Given the description of an element on the screen output the (x, y) to click on. 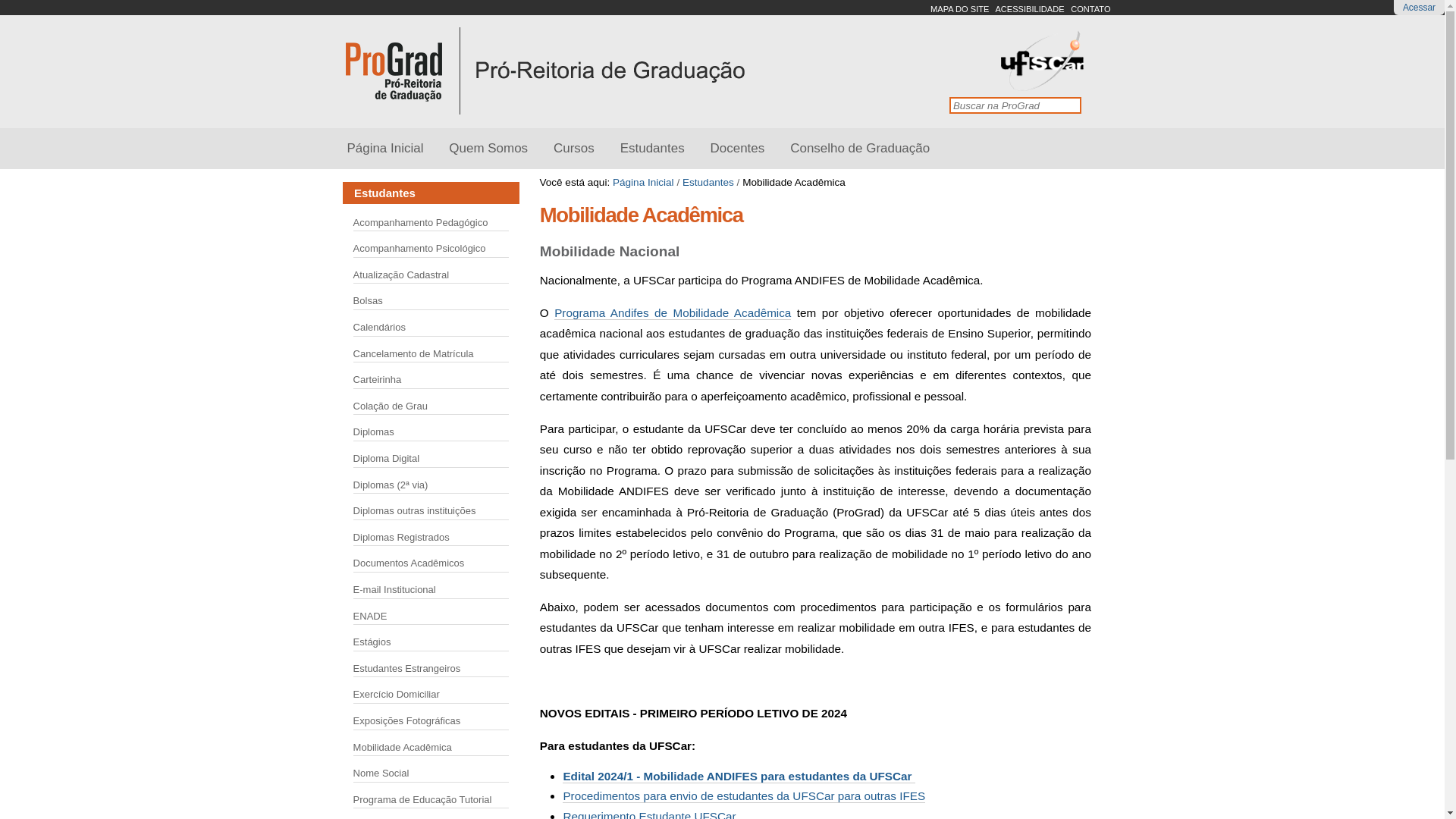
MAPA DO SITE Element type: text (959, 8)
Cursos Element type: text (573, 148)
Estudantes Element type: text (708, 182)
Diploma Digital Element type: text (386, 458)
Estudantes Element type: text (652, 148)
Buscar na ProGrad Element type: hover (1014, 105)
Nome Social Element type: text (381, 772)
Bolsas Element type: text (367, 300)
Docentes Element type: text (737, 148)
Estudantes Estrangeiros Element type: text (407, 668)
ACESSIBILIDADE Element type: text (1028, 8)
Carteirinha Element type: text (377, 379)
E-mail Institucional Element type: text (394, 589)
Quem Somos Element type: text (488, 148)
Portal UFSCar Element type: hover (1042, 85)
Diplomas Registrados Element type: text (401, 536)
ENADE Element type: text (370, 615)
Diplomas Element type: text (373, 431)
CONTATO Element type: text (1090, 8)
Acessar Element type: text (1418, 7)
